Given the description of an element on the screen output the (x, y) to click on. 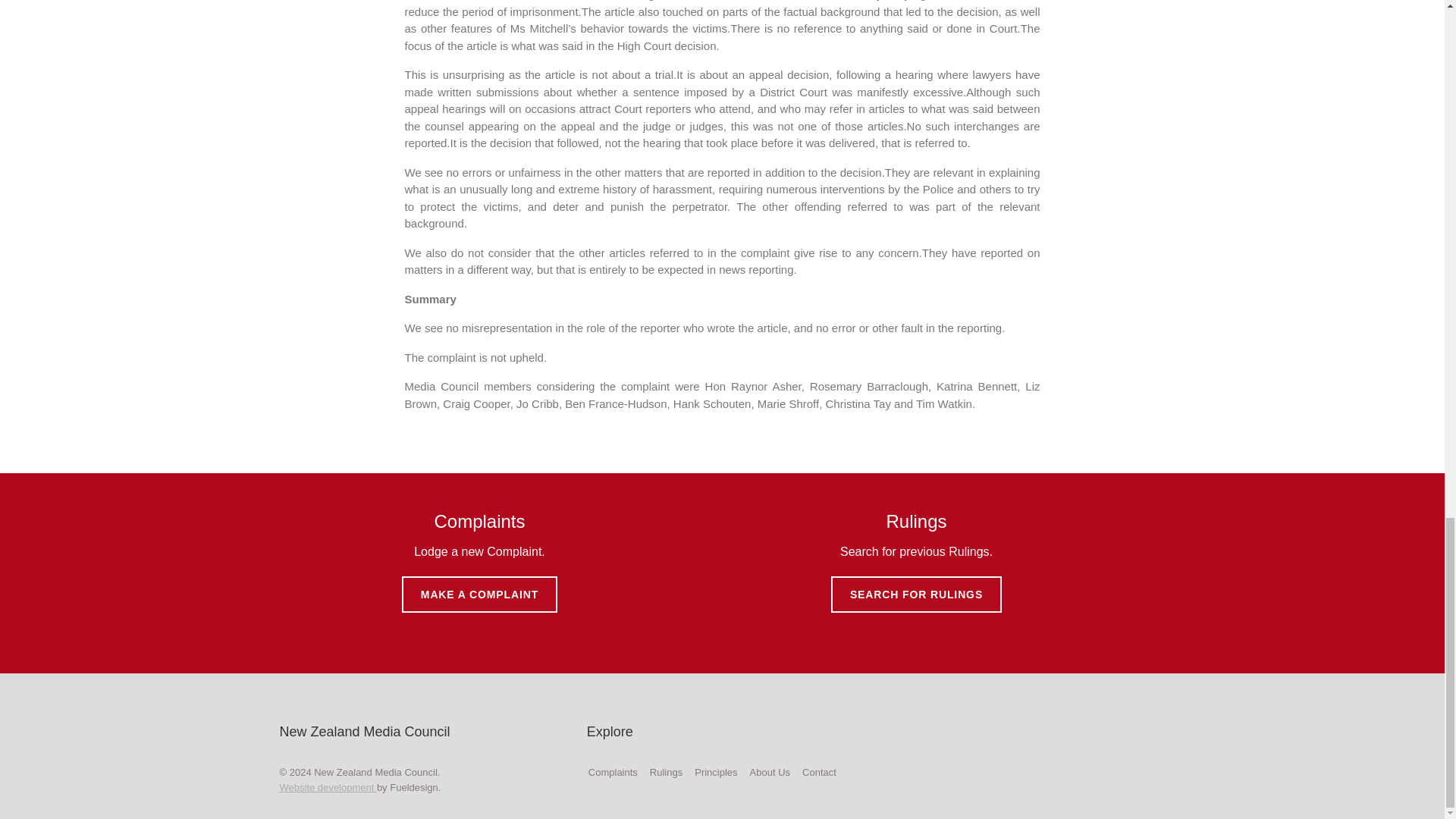
Website development (327, 787)
About Us (769, 772)
Contact Press Council (818, 772)
MAKE A COMPLAINT (479, 594)
Search for Rulings (665, 772)
SEARCH FOR RULINGS (916, 594)
Auckland website design (327, 787)
Rulings (665, 772)
The Standards We Apply (715, 772)
Contact (818, 772)
Lodge a Complaint (612, 772)
Principles (715, 772)
About Press Council (769, 772)
Complaints (612, 772)
